Given the description of an element on the screen output the (x, y) to click on. 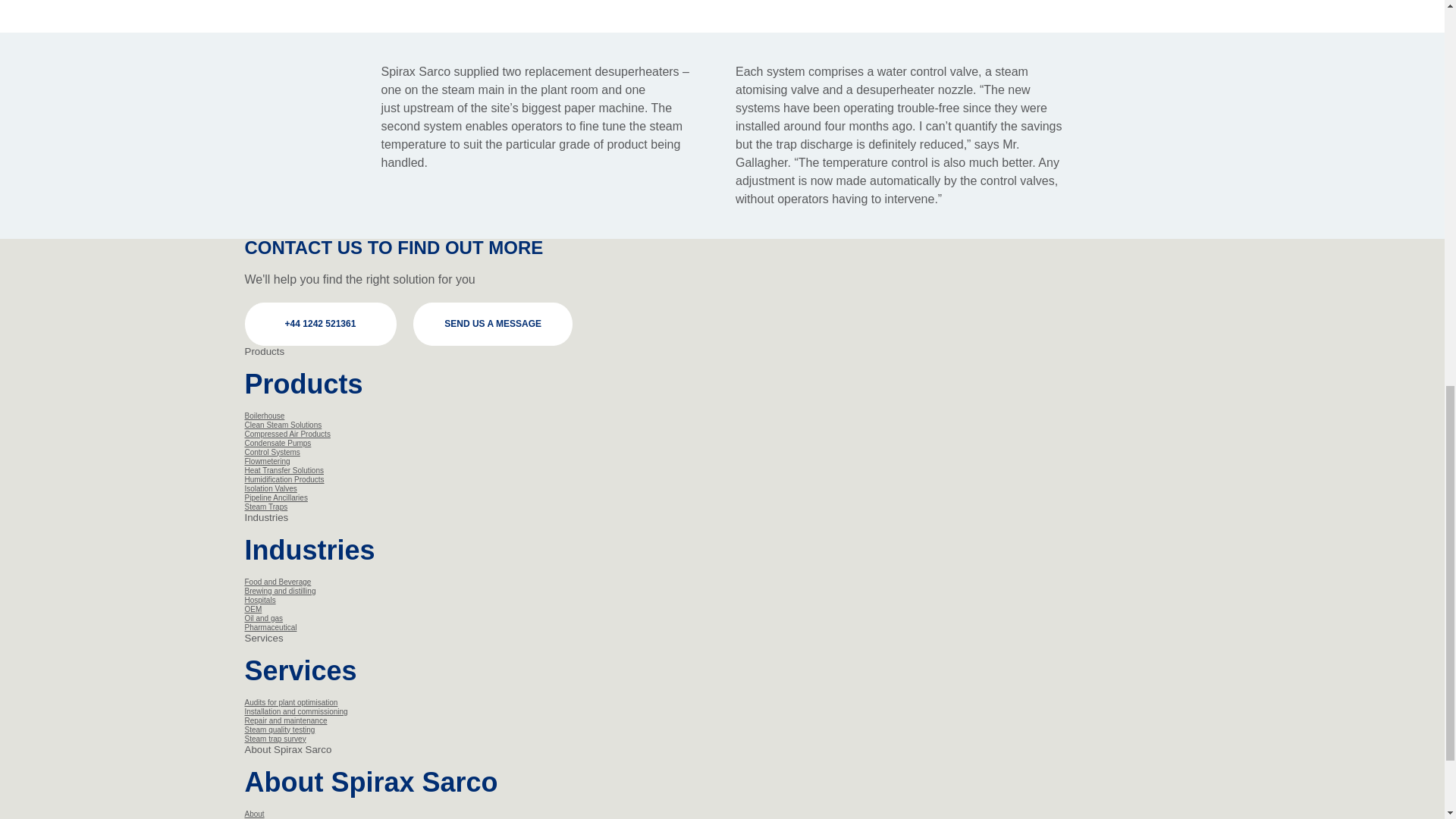
Hospitals (259, 600)
Oil and gas (263, 618)
Clean Steam Solutions (282, 424)
Brewing and distilling (279, 591)
Compressed Air Products (287, 433)
Installation and commissioning (295, 711)
Services (263, 637)
Steam quality testing (279, 729)
Steam Traps (265, 506)
Food and Beverage (277, 582)
